Given the description of an element on the screen output the (x, y) to click on. 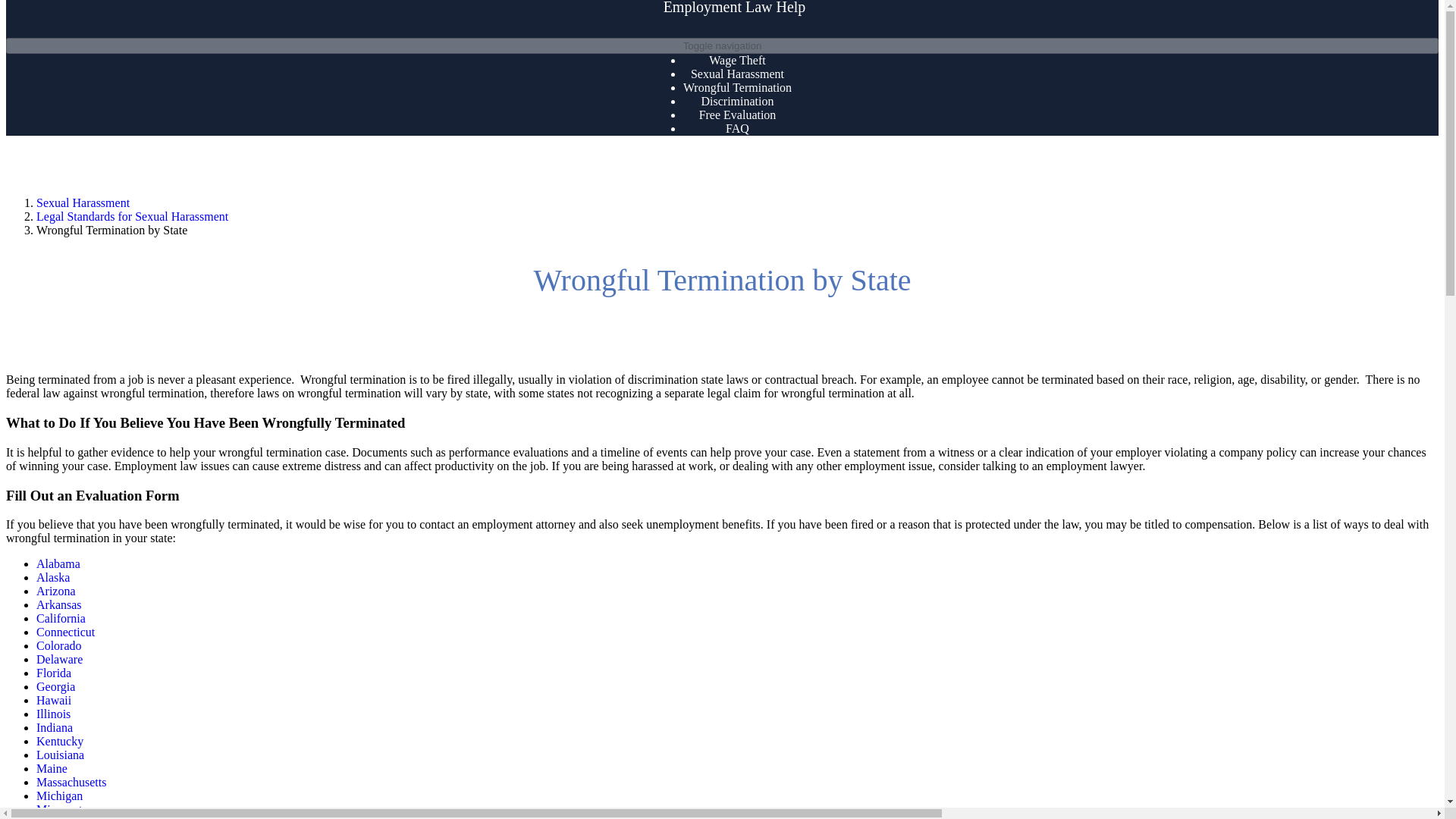
Discrimination (736, 101)
Massachusetts (71, 781)
Indiana (54, 727)
Delaware (59, 658)
Home (734, 6)
Employment Law Help (734, 6)
California (60, 617)
Hawaii (53, 699)
FAQ (737, 128)
Maine (51, 768)
